Given the description of an element on the screen output the (x, y) to click on. 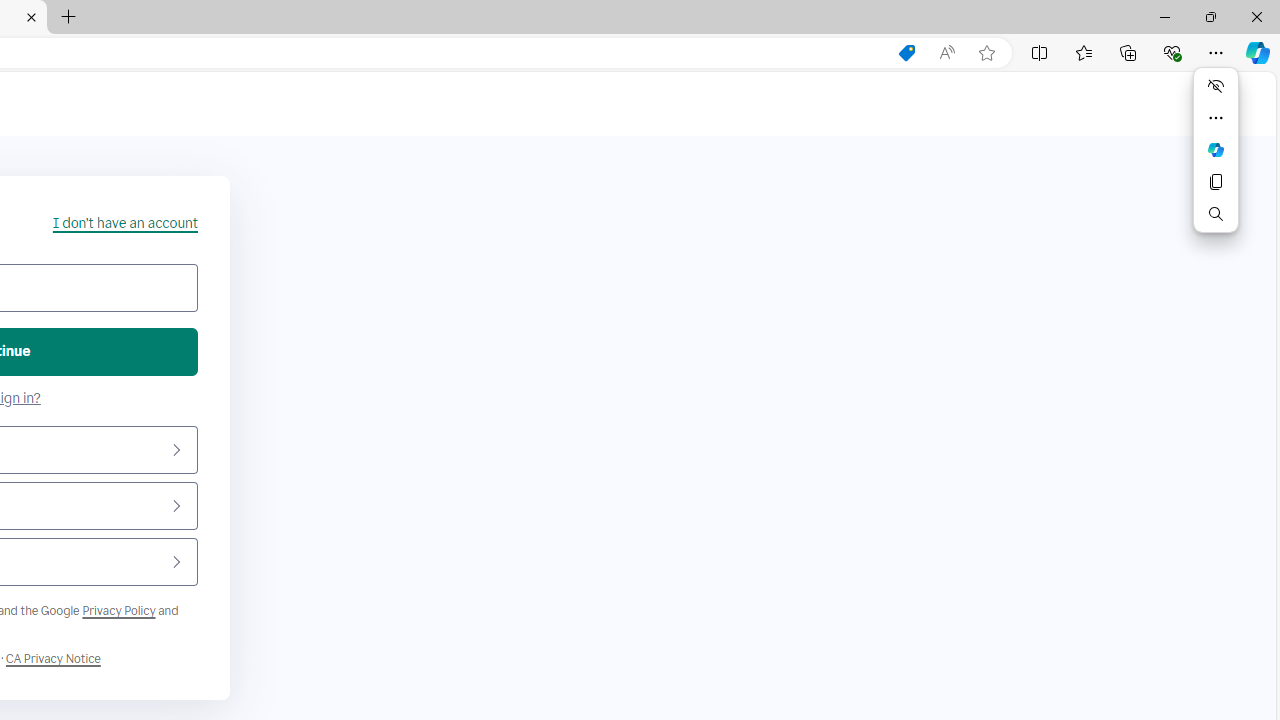
Mini menu on text selection (1215, 161)
Hide menu (1215, 85)
Ask Copilot (1215, 149)
